Given the description of an element on the screen output the (x, y) to click on. 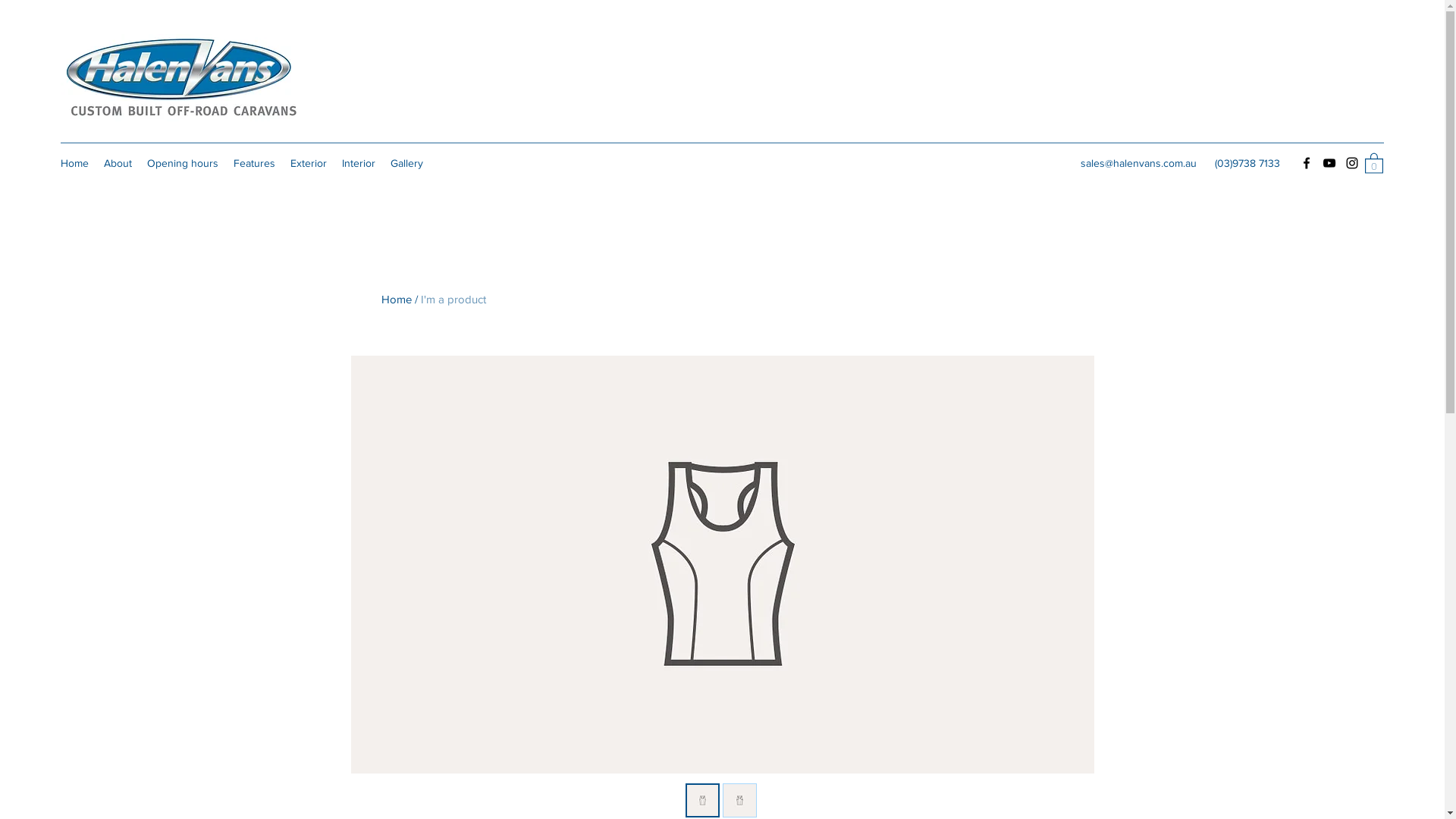
Home Element type: text (74, 162)
Gallery Element type: text (406, 162)
I'm a product Element type: text (452, 298)
Exterior Element type: text (308, 162)
About Element type: text (117, 162)
Features Element type: text (253, 162)
0 Element type: text (1374, 162)
Interior Element type: text (358, 162)
sales@halenvans.com.au Element type: text (1138, 162)
Home Element type: text (395, 298)
Opening hours Element type: text (182, 162)
